Given the description of an element on the screen output the (x, y) to click on. 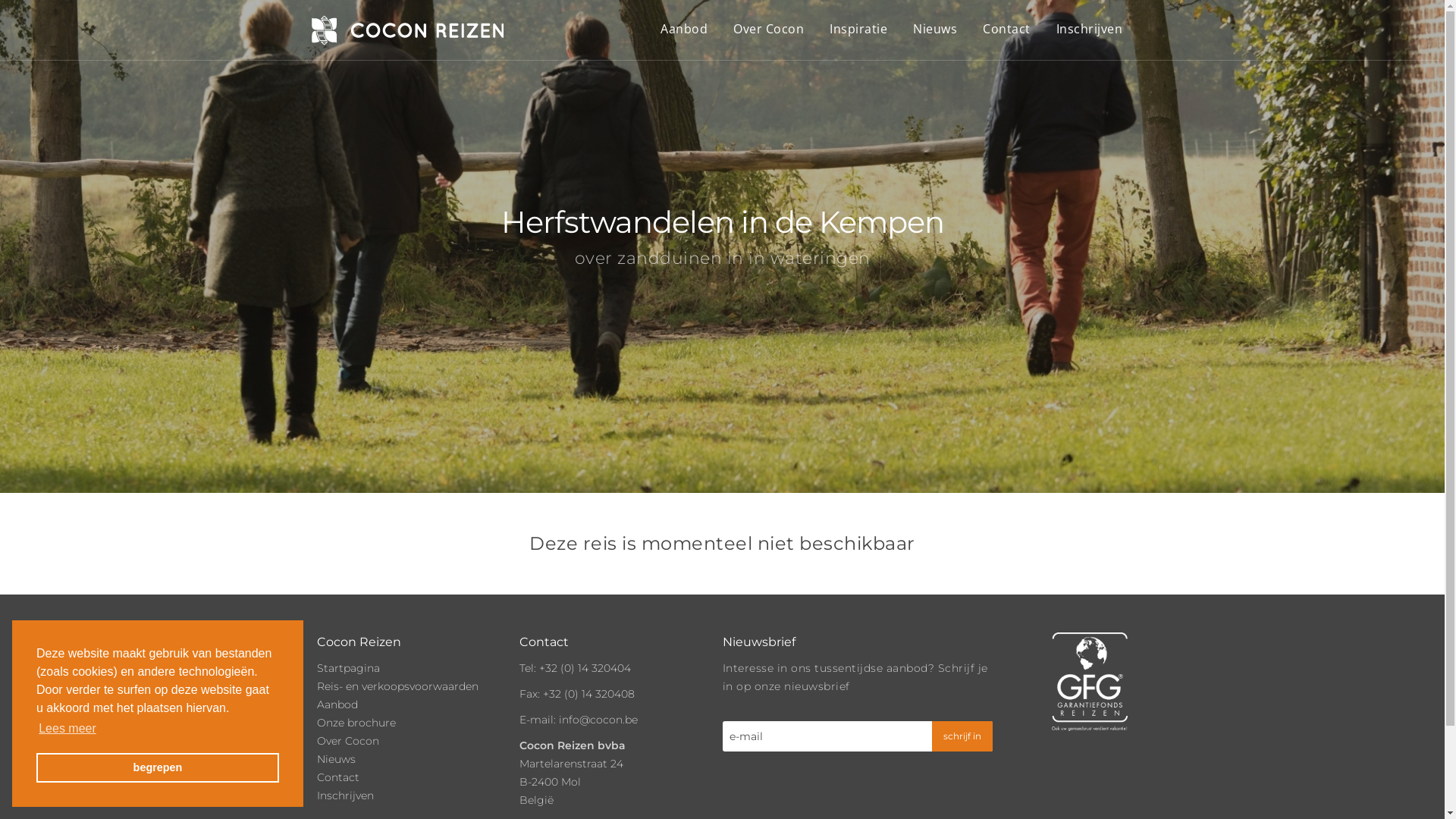
Contact Element type: text (337, 777)
+32 (0) 14 320404 Element type: text (584, 667)
Lees meer Element type: text (67, 728)
schrijf in Element type: text (961, 736)
begrepen Element type: text (157, 767)
Aanbod Element type: text (683, 28)
Over Cocon Element type: text (768, 28)
Nieuws Element type: text (935, 28)
+32 (0) 14 320408 Element type: text (588, 693)
Inschrijven Element type: text (1088, 28)
Over Cocon Element type: text (347, 740)
Startpagina Element type: text (347, 667)
Contact Element type: text (1006, 28)
Reis- en verkoopsvoorwaarden Element type: text (397, 686)
Inspiratie Element type: text (858, 28)
Aanbod Element type: text (336, 704)
Inschrijven Element type: text (344, 795)
Nieuws Element type: text (335, 758)
info@cocon.be Element type: text (597, 719)
Onze brochure Element type: text (355, 722)
